Given the description of an element on the screen output the (x, y) to click on. 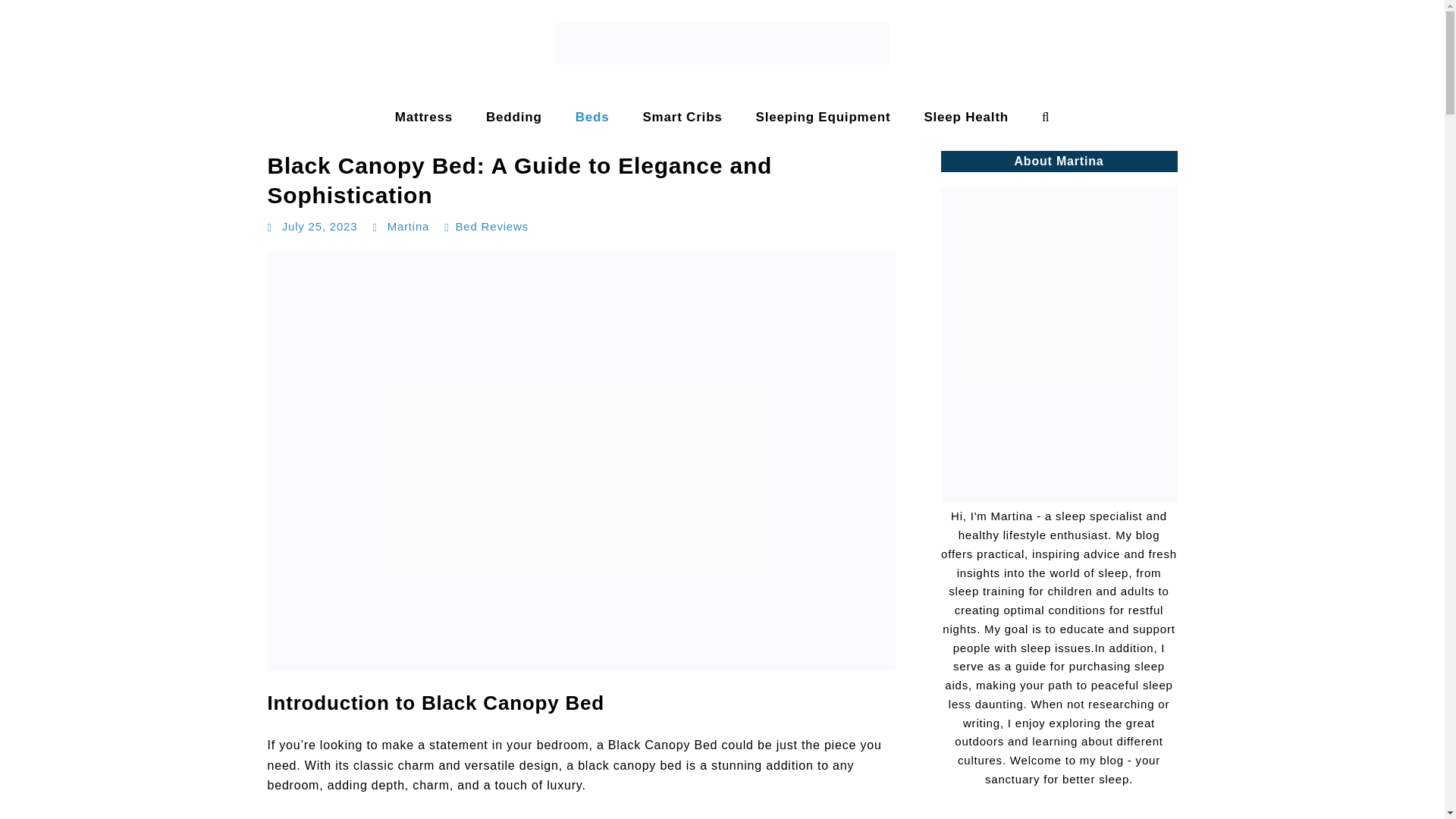
Mattress (423, 117)
Beds (592, 117)
Sleep Your Dream (69, 132)
Bedding (513, 117)
